Given the description of an element on the screen output the (x, y) to click on. 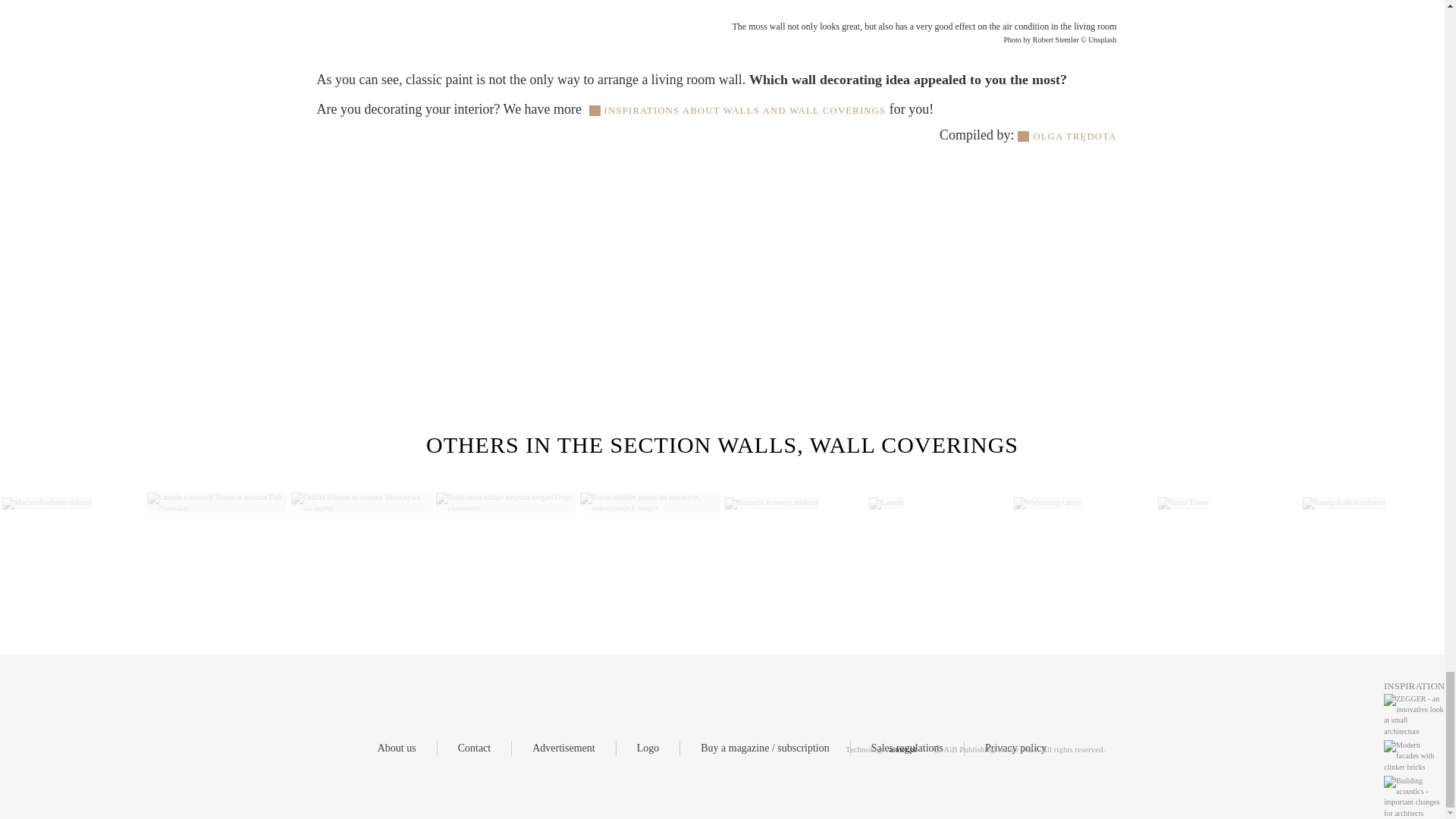
TikTok (745, 709)
wyszukiwarka (772, 709)
facebook (689, 709)
instagram (717, 709)
